Given the description of an element on the screen output the (x, y) to click on. 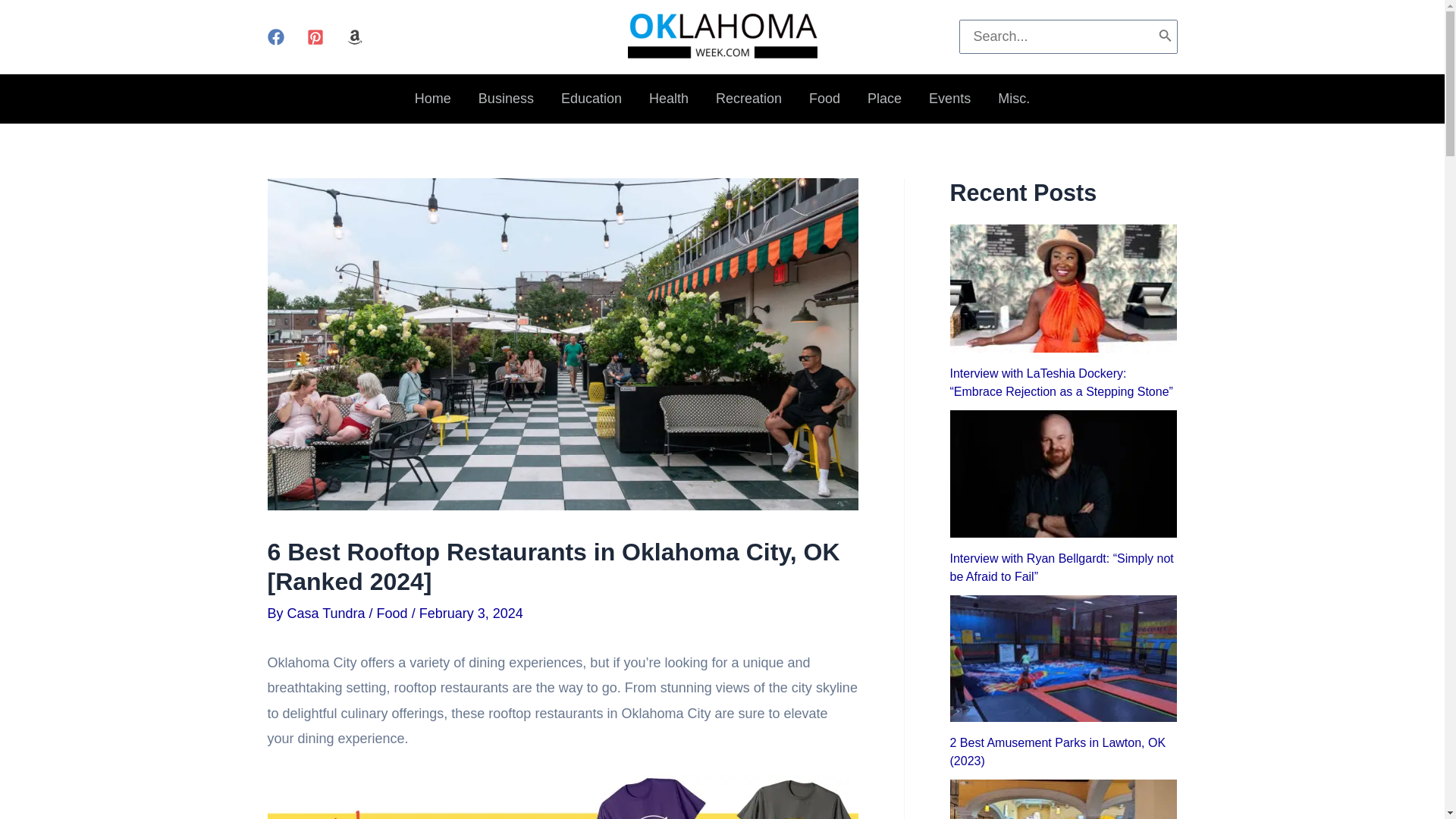
Home (432, 98)
Misc. (1013, 98)
Events (949, 98)
View all posts by Casa Tundra (327, 613)
Recreation (747, 98)
Food (823, 98)
Health (667, 98)
Education (590, 98)
Business (505, 98)
Place (884, 98)
